Given the description of an element on the screen output the (x, y) to click on. 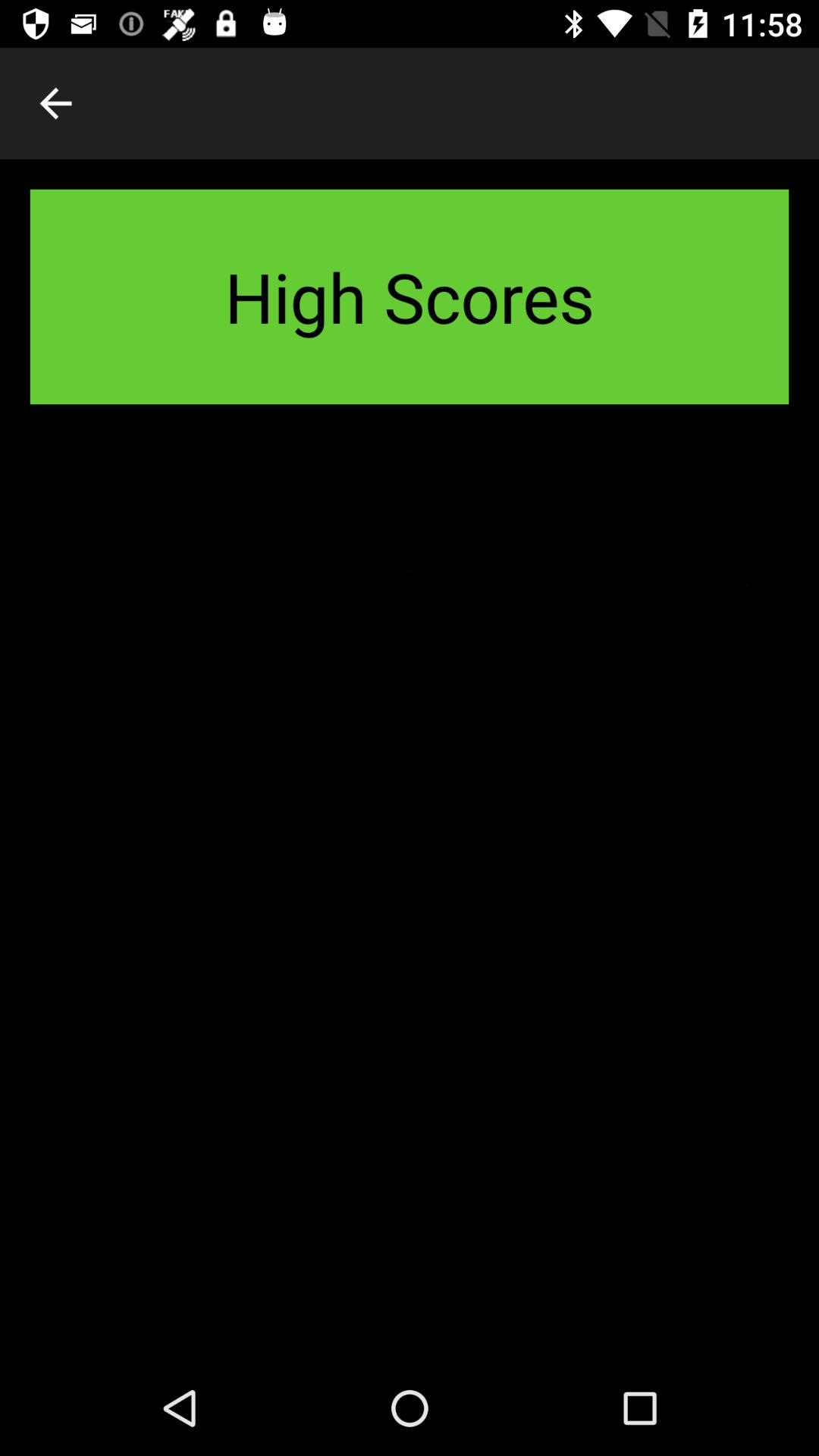
click the icon at the top left corner (55, 103)
